Given the description of an element on the screen output the (x, y) to click on. 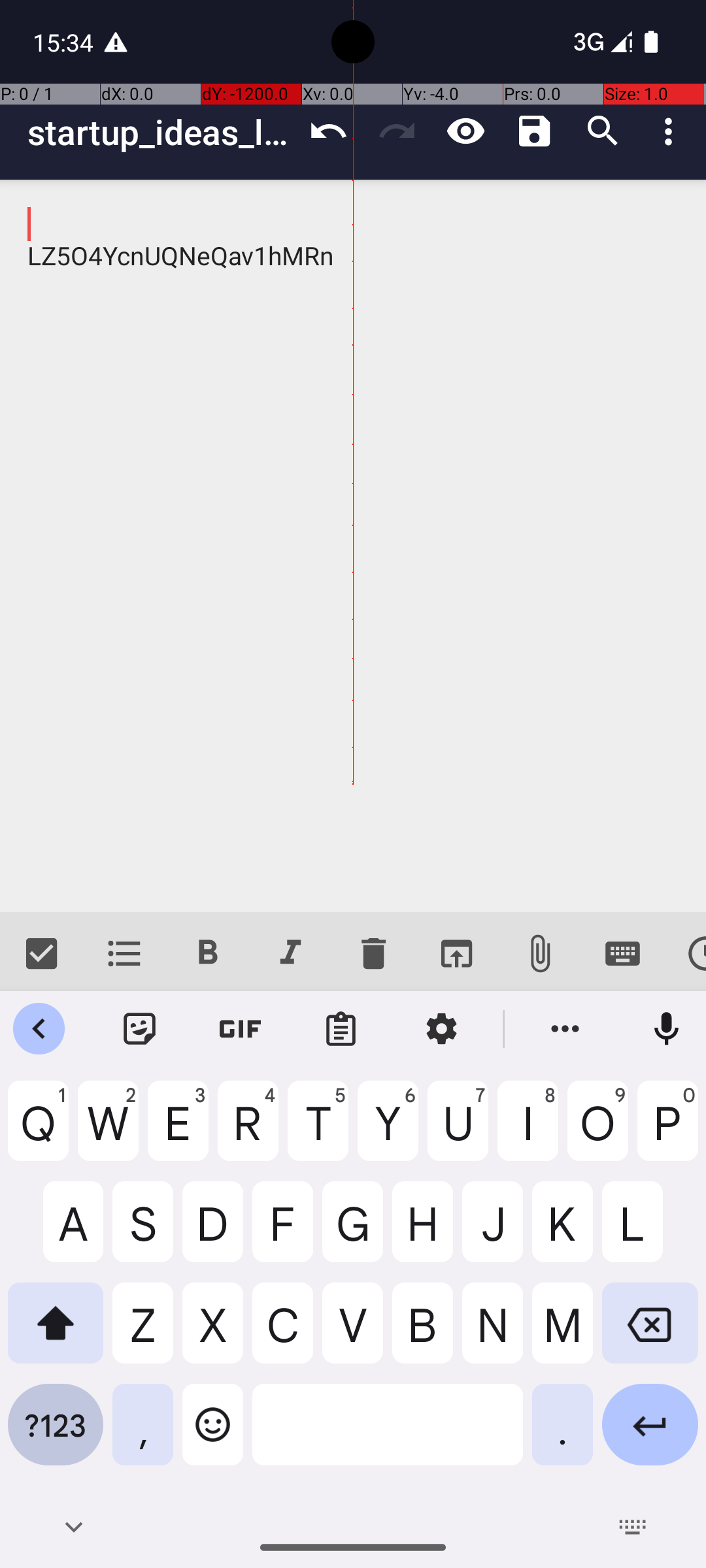
startup_ideas_launch_edited Element type: android.widget.TextView (160, 131)

LZ5O4YcnUQNeQav1hMRn Element type: android.widget.EditText (353, 545)
Bold Element type: android.widget.ImageView (207, 953)
Italic Element type: android.widget.ImageView (290, 953)
Q Element type: android.widget.FrameLayout (38, 1130)
E Element type: android.widget.FrameLayout (178, 1130)
R Element type: android.widget.FrameLayout (248, 1130)
Y Element type: android.widget.FrameLayout (387, 1130)
U Element type: android.widget.FrameLayout (457, 1130)
I Element type: android.widget.FrameLayout (527, 1130)
O Element type: android.widget.FrameLayout (597, 1130)
P Element type: android.widget.FrameLayout (667, 1130)
A Element type: android.widget.FrameLayout (55, 1231)
D Element type: android.widget.FrameLayout (212, 1231)
G Element type: android.widget.FrameLayout (352, 1231)
H Element type: android.widget.FrameLayout (422, 1231)
J Element type: android.widget.FrameLayout (492, 1231)
K Element type: android.widget.FrameLayout (562, 1231)
L Element type: android.widget.FrameLayout (649, 1231)
Z Element type: android.widget.FrameLayout (142, 1332)
X Element type: android.widget.FrameLayout (212, 1332)
C Element type: android.widget.FrameLayout (282, 1332)
V Element type: android.widget.FrameLayout (352, 1332)
B Element type: android.widget.FrameLayout (422, 1332)
N Element type: android.widget.FrameLayout (492, 1332)
